Given the description of an element on the screen output the (x, y) to click on. 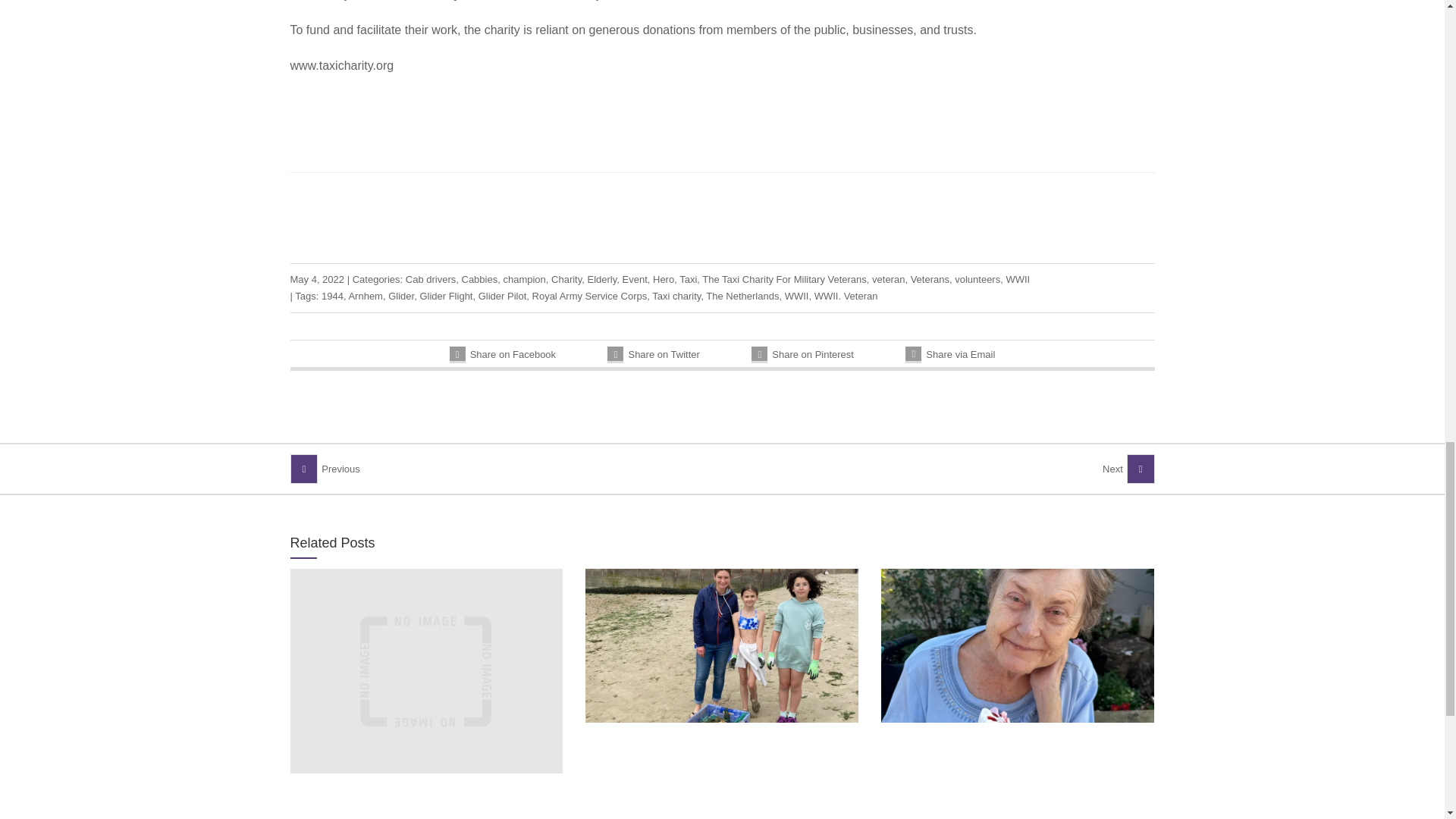
Glider Flight (445, 296)
Elderly (600, 279)
The Taxi Charity For Military Veterans (783, 279)
Cab drivers (430, 279)
volunteers (977, 279)
veteran (888, 279)
www.taxicharity.org (341, 65)
Arnhem (364, 296)
Charity (565, 279)
Event (635, 279)
champion (523, 279)
1944 (332, 296)
Glider Pilot (503, 296)
Veterans (930, 279)
Cabbies (479, 279)
